Given the description of an element on the screen output the (x, y) to click on. 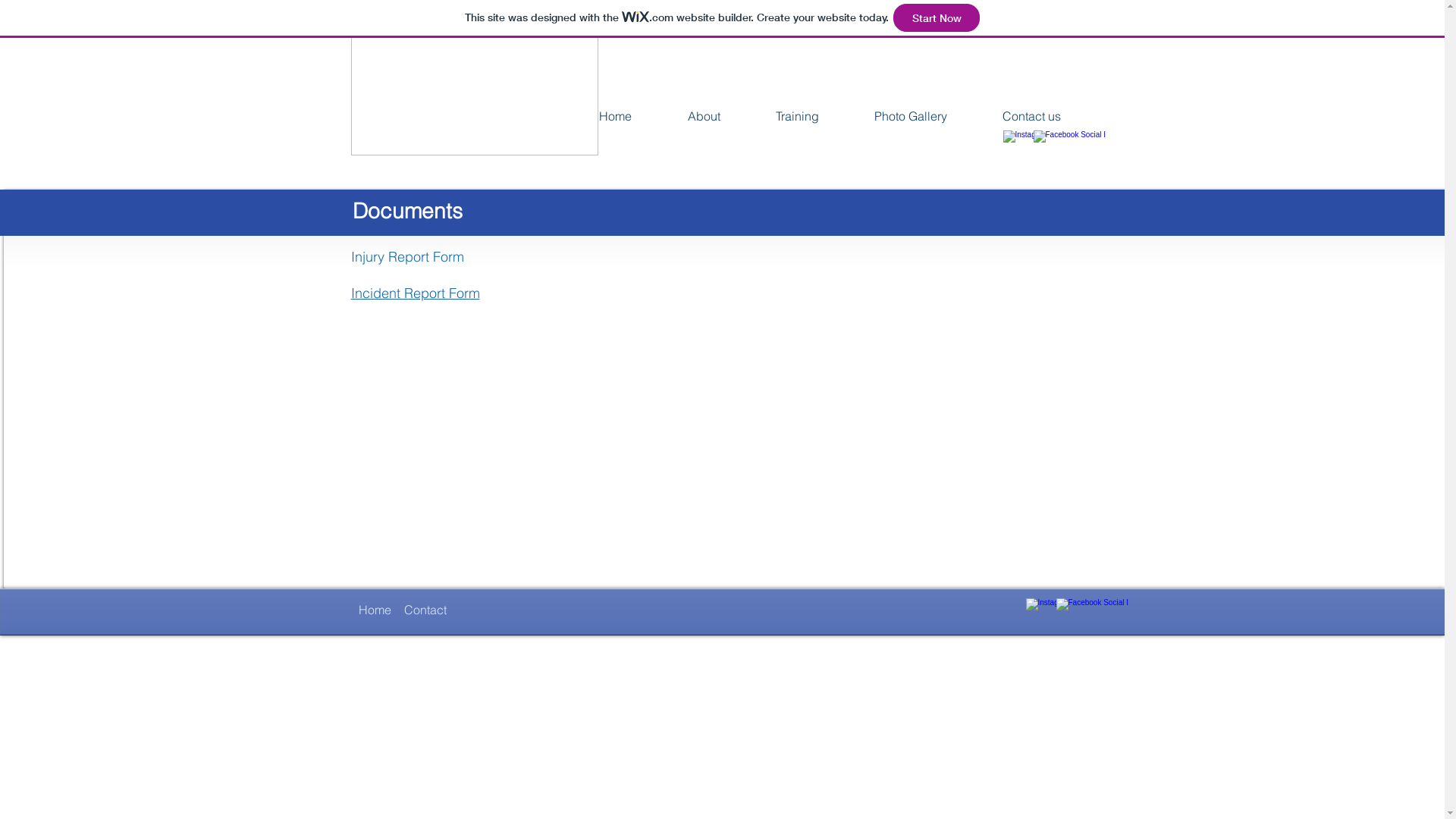
Home Element type: text (373, 609)
Contact us Element type: text (1031, 115)
About Element type: text (703, 115)
Contact Element type: text (424, 609)
Incident Report Form Element type: text (414, 292)
Injury Report Form Element type: text (406, 256)
1272371_1415318558681489_1653186987_o.png Element type: hover (473, 86)
Training Element type: text (796, 115)
Home Element type: text (614, 115)
